Given the description of an element on the screen output the (x, y) to click on. 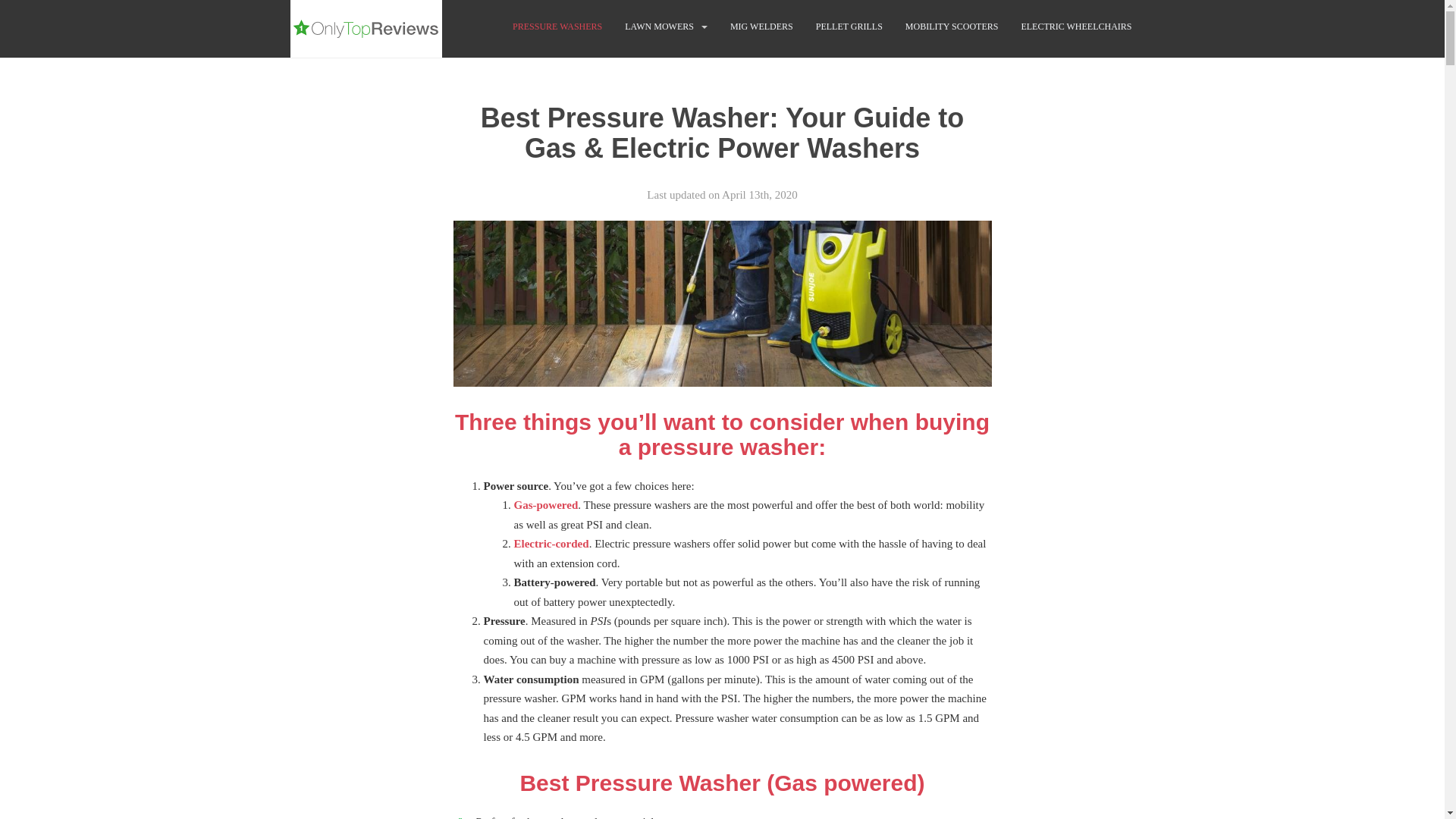
MIG WELDERS (761, 26)
ELECTRIC WHEELCHAIRS (1075, 26)
MOBILITY SCOOTERS (951, 26)
Electric-corded (551, 543)
LAWN MOWERS (659, 26)
PRESSURE WASHERS (557, 26)
PELLET GRILLS (848, 26)
Gas-powered (545, 504)
